Given the description of an element on the screen output the (x, y) to click on. 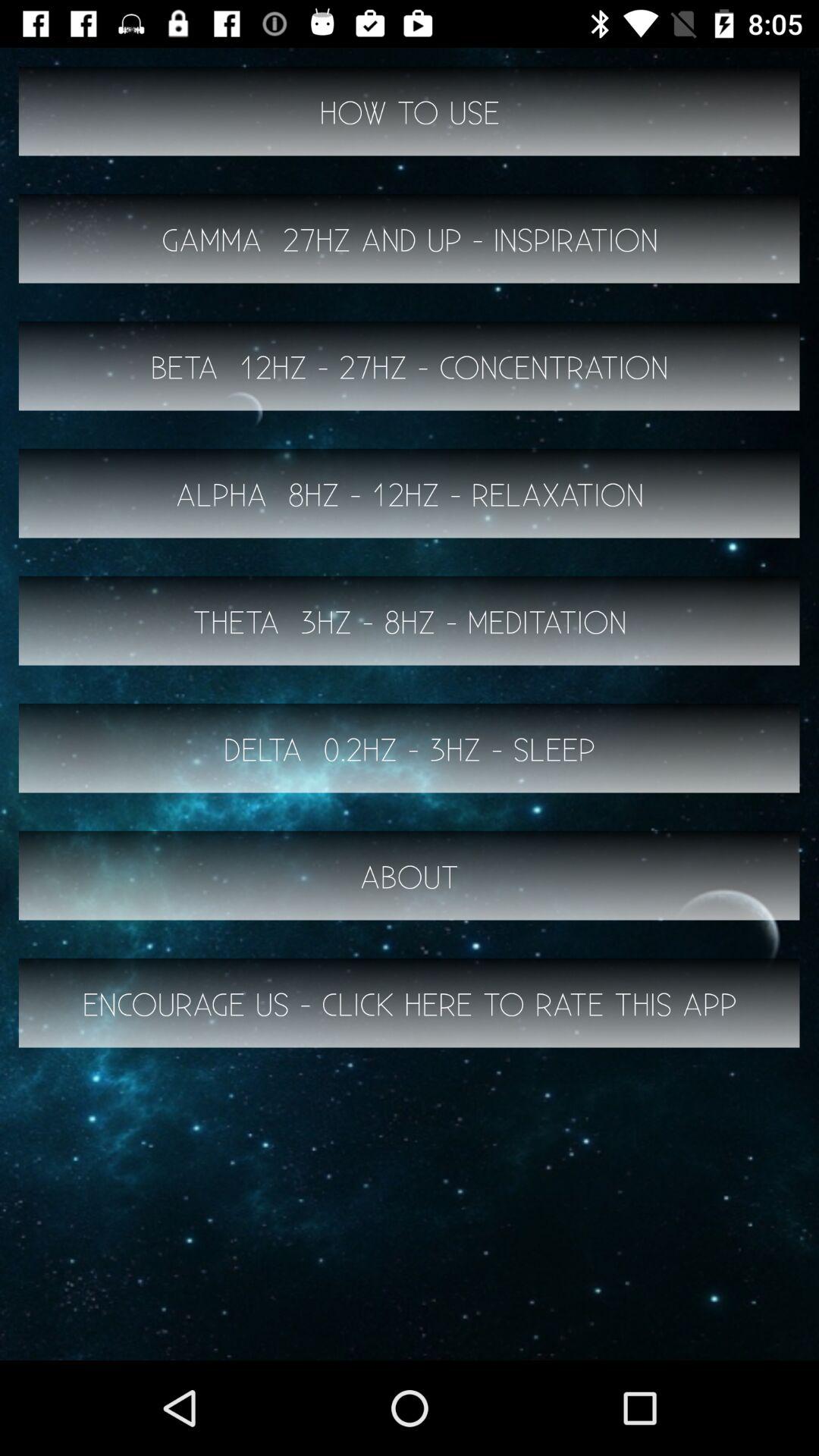
turn off item above beta 12hz 27hz button (409, 238)
